Given the description of an element on the screen output the (x, y) to click on. 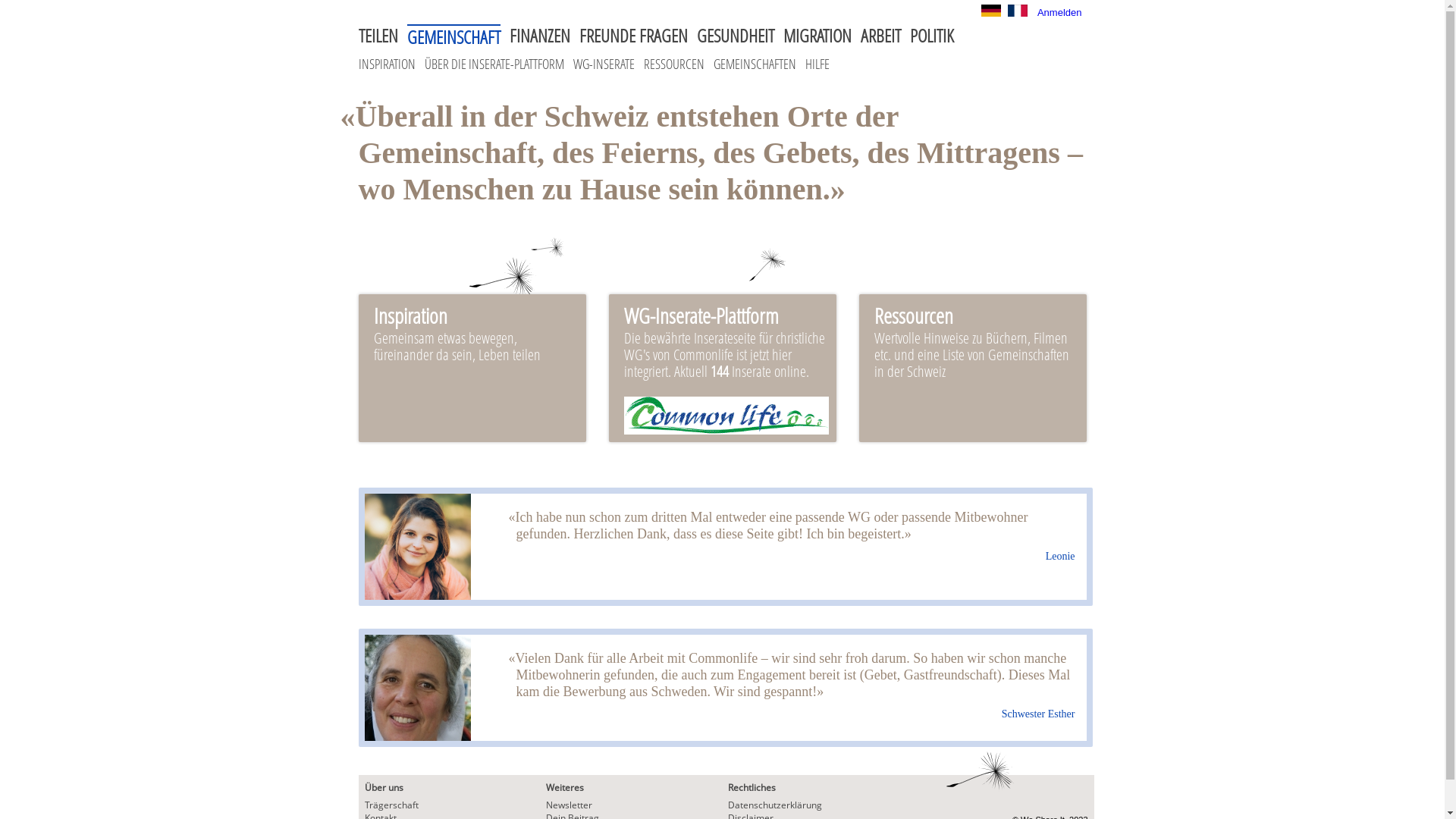
HILFE Element type: text (817, 63)
GEMEINSCHAFT Element type: text (452, 36)
WG-INSERATE Element type: text (603, 63)
POLITIK Element type: text (931, 35)
FREUNDE FRAGEN Element type: text (633, 35)
GEMEINSCHAFTEN Element type: text (753, 63)
MIGRATION Element type: text (816, 35)
GESUNDHEIT Element type: text (734, 35)
FINANZEN Element type: text (539, 35)
RESSOURCEN Element type: text (673, 63)
INSPIRATION Element type: text (385, 63)
Newsletter Element type: text (569, 804)
Anmelden Element type: text (1059, 11)
ARBEIT Element type: text (879, 35)
TEILEN Element type: text (377, 35)
